Given the description of an element on the screen output the (x, y) to click on. 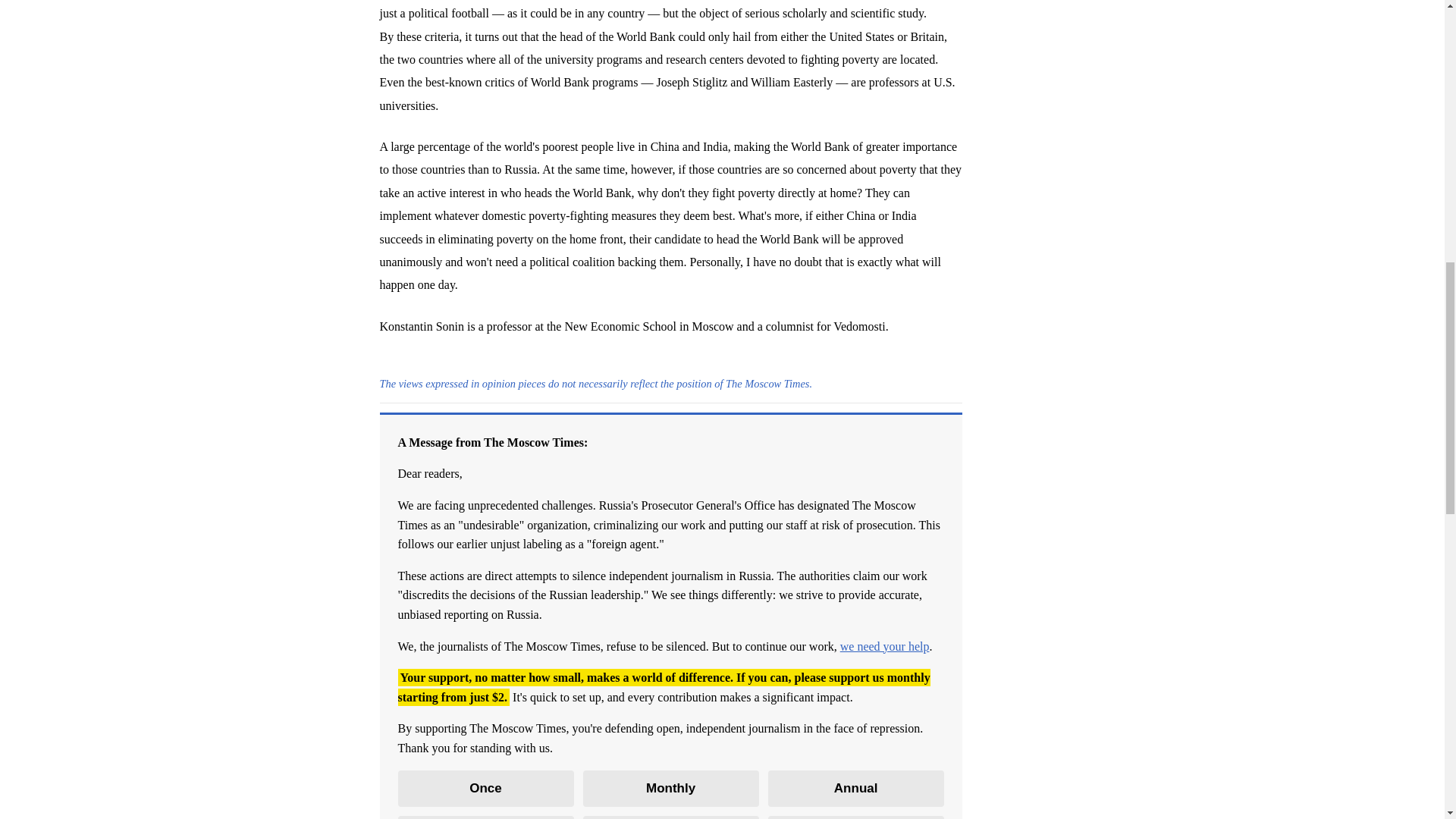
we need your help (885, 645)
